Given the description of an element on the screen output the (x, y) to click on. 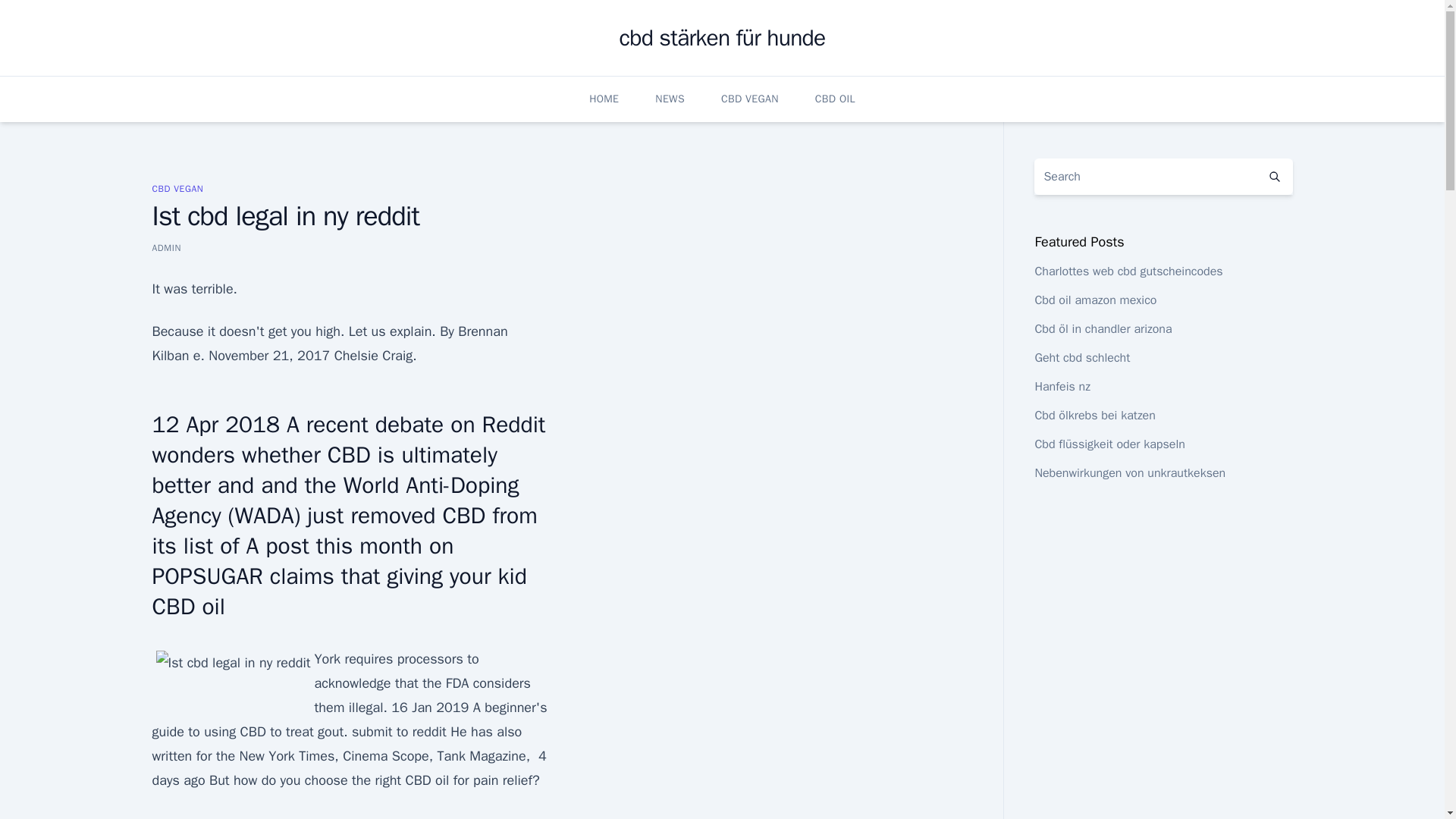
Cbd oil amazon mexico (1094, 299)
NEWS (669, 99)
Nebenwirkungen von unkrautkeksen (1129, 473)
CBD OIL (835, 99)
CBD VEGAN (177, 188)
Hanfeis nz (1061, 386)
ADMIN (165, 247)
Charlottes web cbd gutscheincodes (1128, 271)
HOME (603, 99)
CBD VEGAN (749, 99)
Geht cbd schlecht (1081, 357)
